Given the description of an element on the screen output the (x, y) to click on. 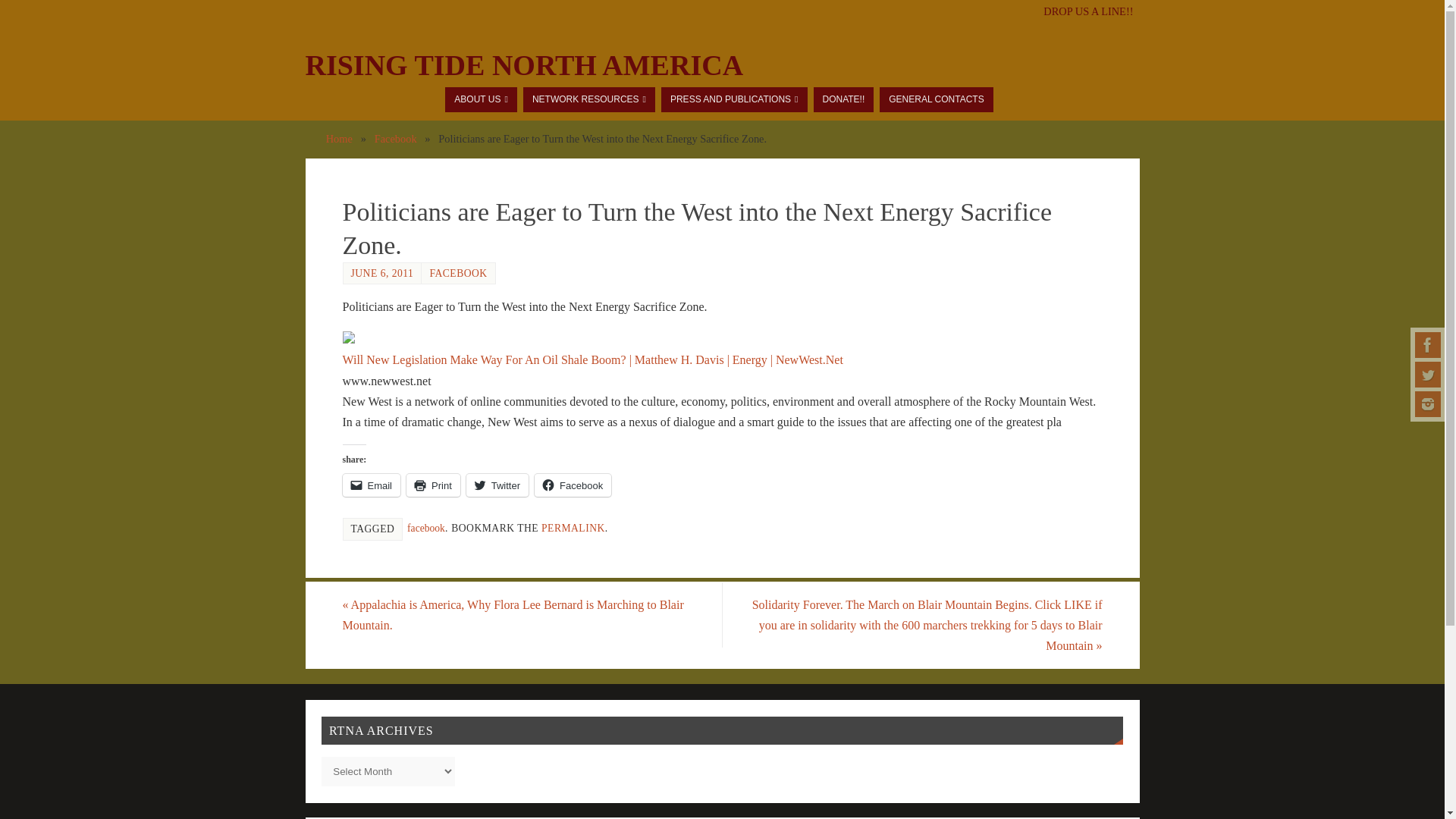
GENERAL CONTACTS (935, 98)
RISING TIDE NORTH AMERICA (523, 64)
PRESS AND PUBLICATIONS (734, 98)
Click to print (433, 485)
Rising Tide North America (523, 64)
Twitter (1428, 374)
Click to share on Facebook (572, 485)
Instagram (1428, 403)
FACEBOOK (457, 273)
Click to share on Twitter (496, 485)
NETWORK RESOURCES (588, 98)
Facebook (395, 138)
DONATE!! (842, 98)
Click to email a link to a friend (371, 485)
